Given the description of an element on the screen output the (x, y) to click on. 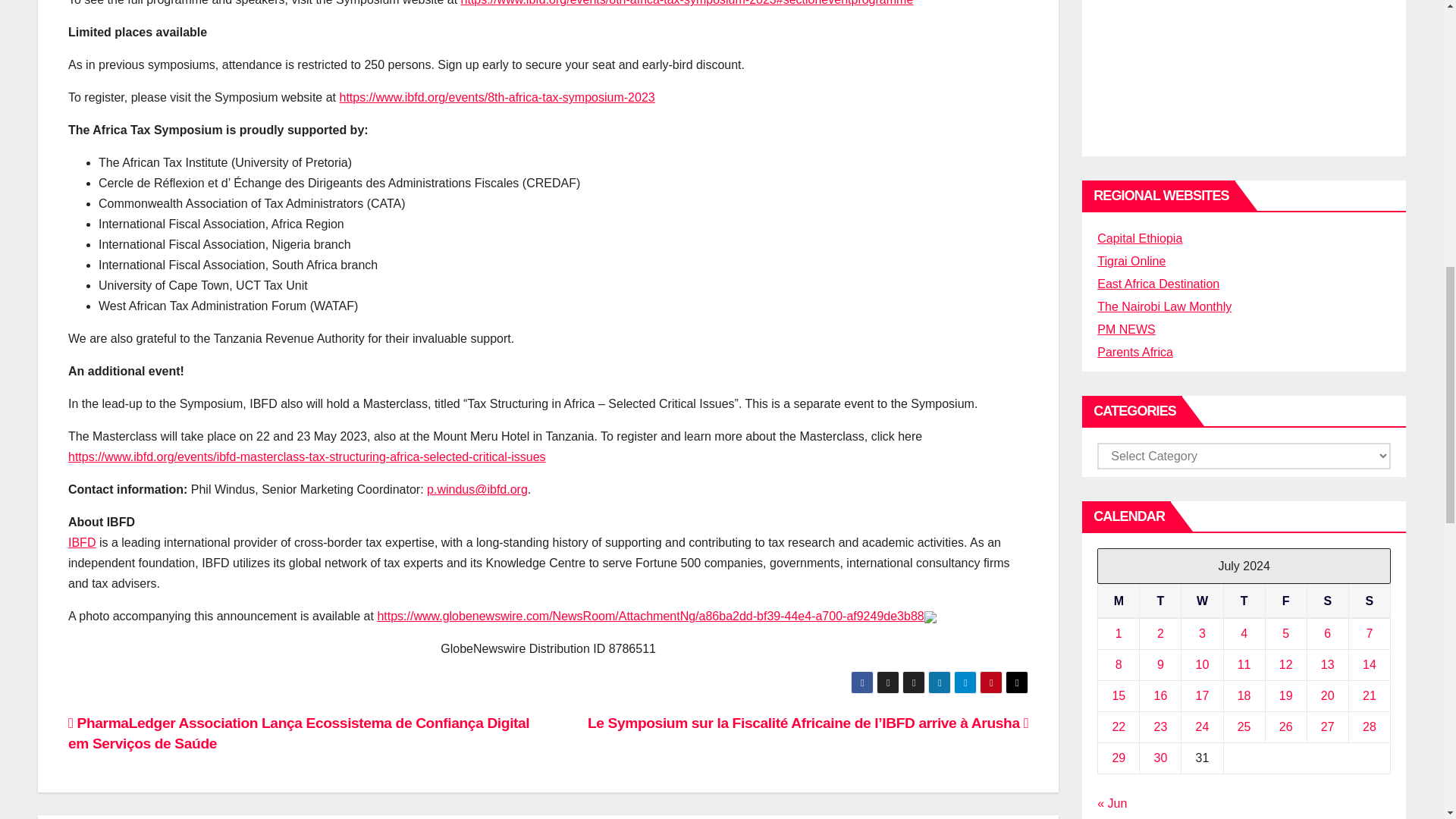
Tuesday (1160, 601)
Monday (1118, 601)
IBFD (82, 542)
